Given the description of an element on the screen output the (x, y) to click on. 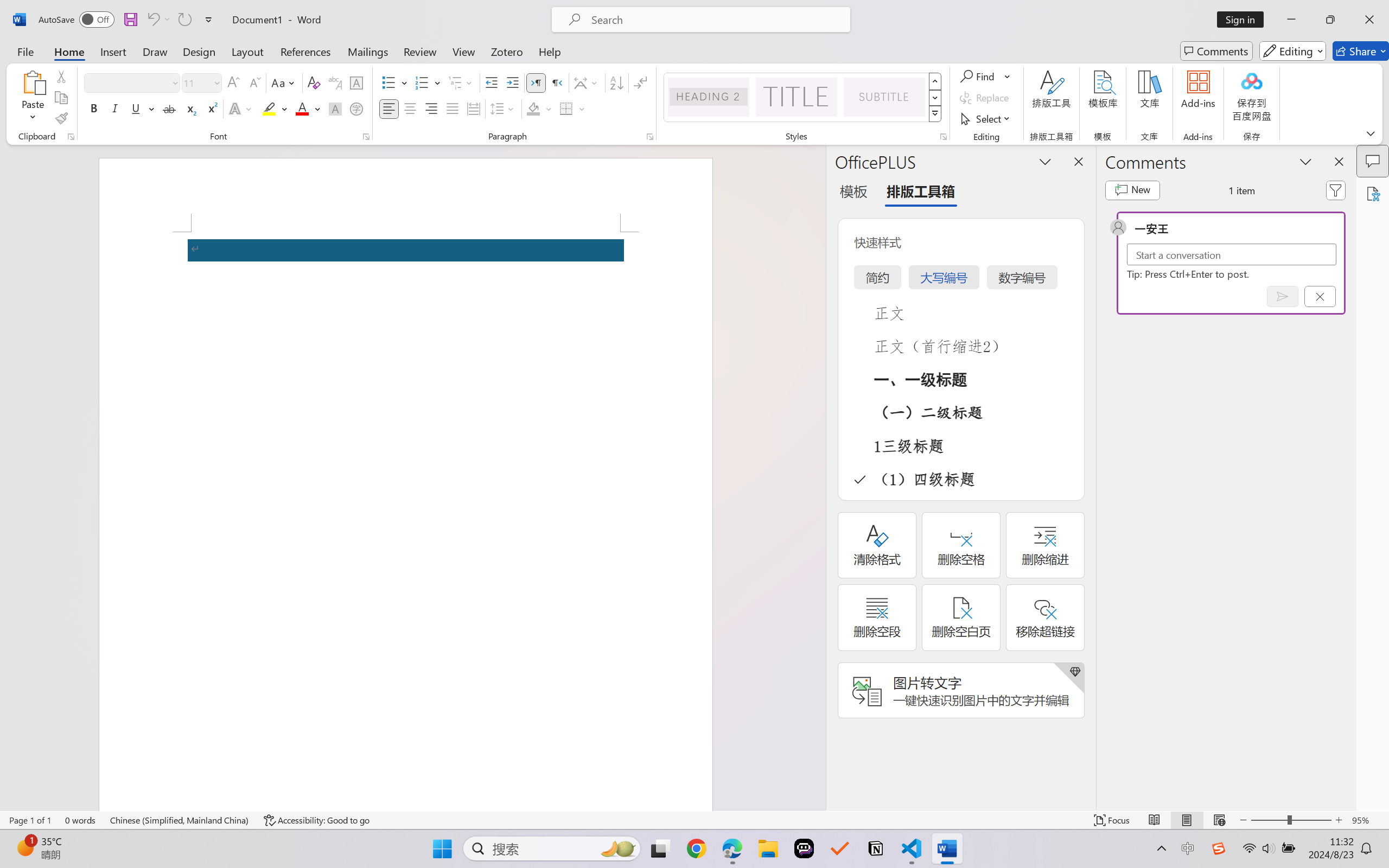
AutomationID: QuickStylesGallery (802, 97)
Start a conversation (1231, 254)
